Given the description of an element on the screen output the (x, y) to click on. 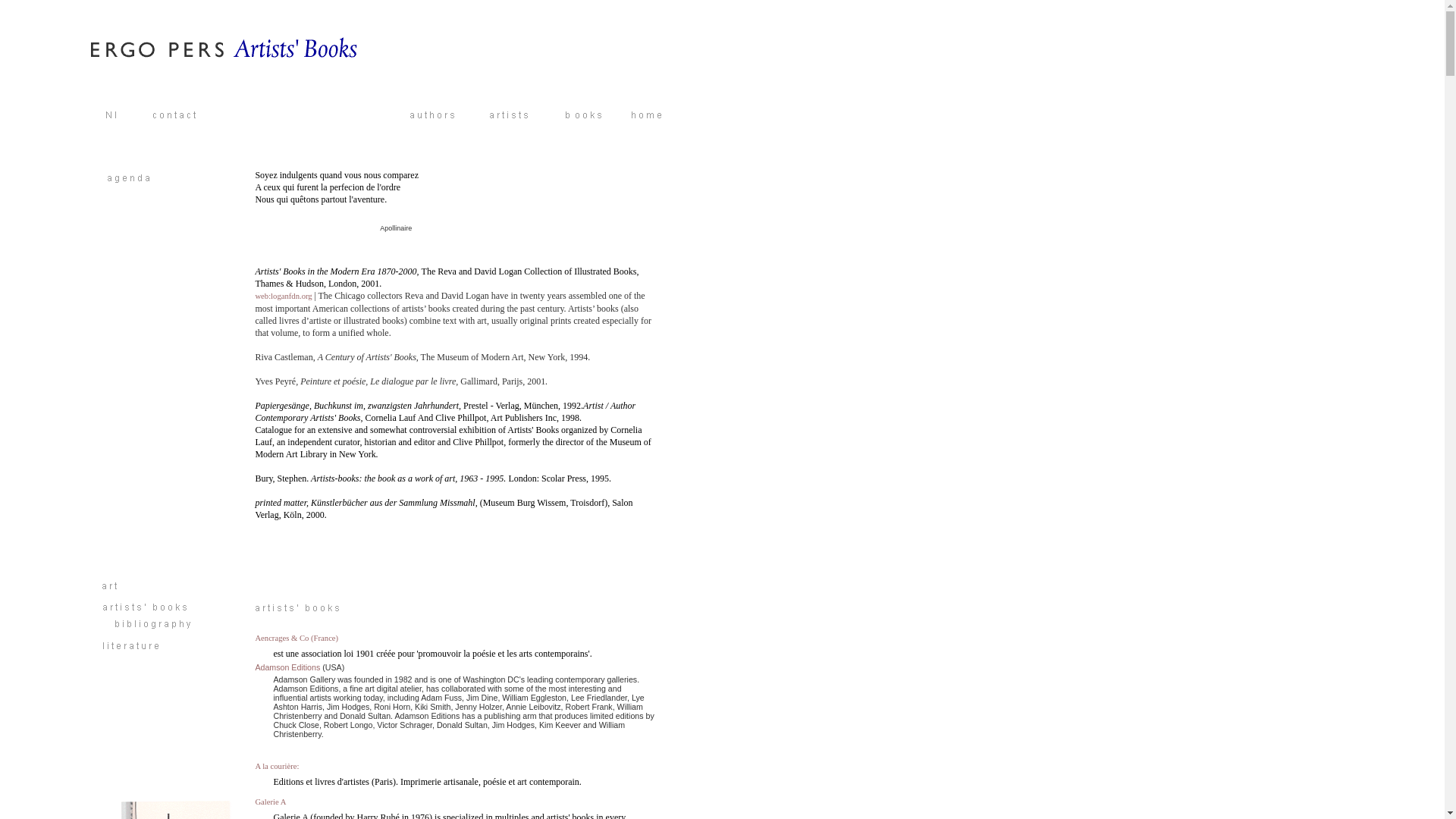
web:loganfdn.org Element type: text (283, 295)
Galerie A Element type: text (269, 801)
Adamson Editions Element type: text (287, 666)
Aencrages & Co (France) Element type: text (296, 637)
